Given the description of an element on the screen output the (x, y) to click on. 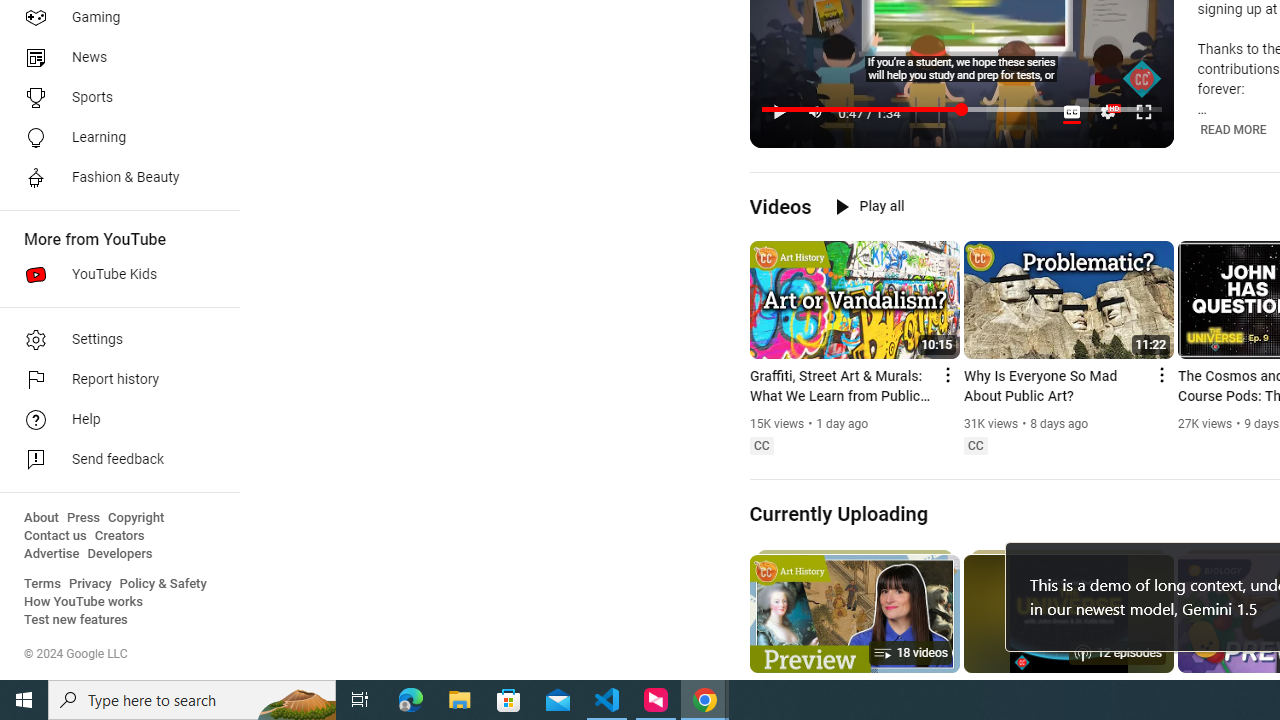
READ MORE (1233, 129)
Press (83, 518)
About (41, 518)
Subtitles/closed captions unavailable (1071, 112)
Report history (113, 380)
Full screen keyboard shortcut f (1143, 112)
Test new features (76, 620)
Learning (113, 137)
Action menu (1160, 374)
Sports (113, 97)
Channel watermark (1141, 79)
Channel watermark (1141, 79)
